Given the description of an element on the screen output the (x, y) to click on. 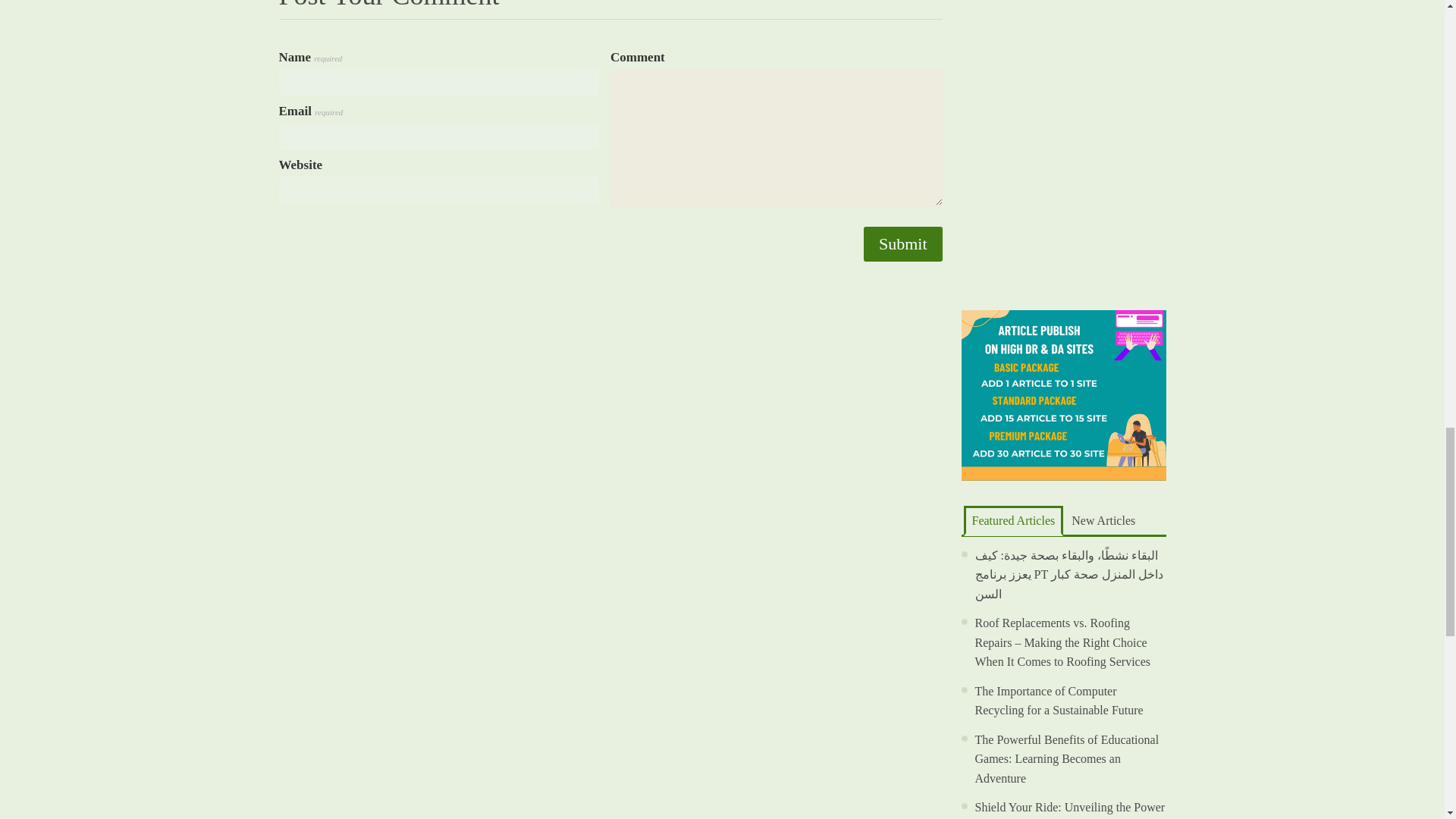
New Articles (1103, 520)
Submit (902, 243)
New Articles (1103, 520)
Submit (902, 243)
Featured Articles (1012, 521)
Featured Articles (1012, 521)
